Given the description of an element on the screen output the (x, y) to click on. 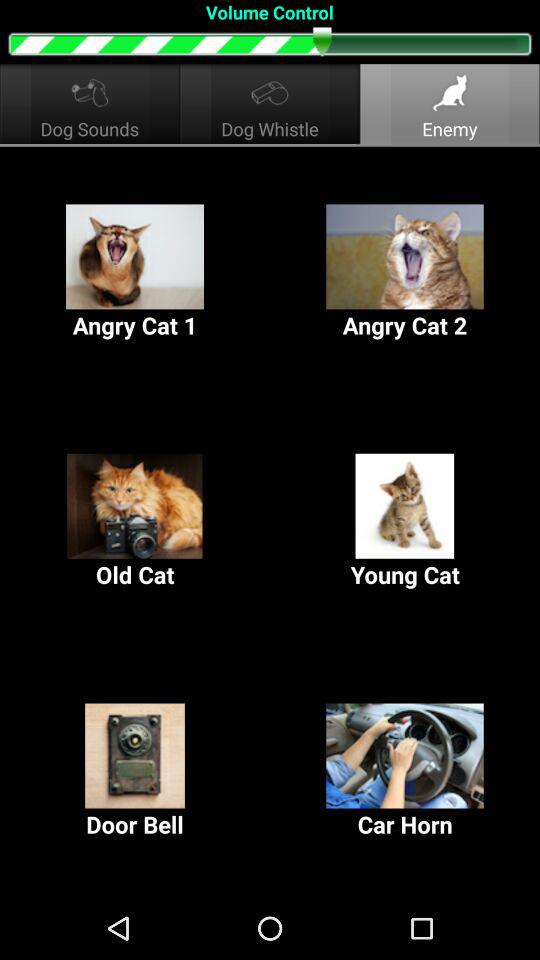
choose button next to the old cat (405, 521)
